Given the description of an element on the screen output the (x, y) to click on. 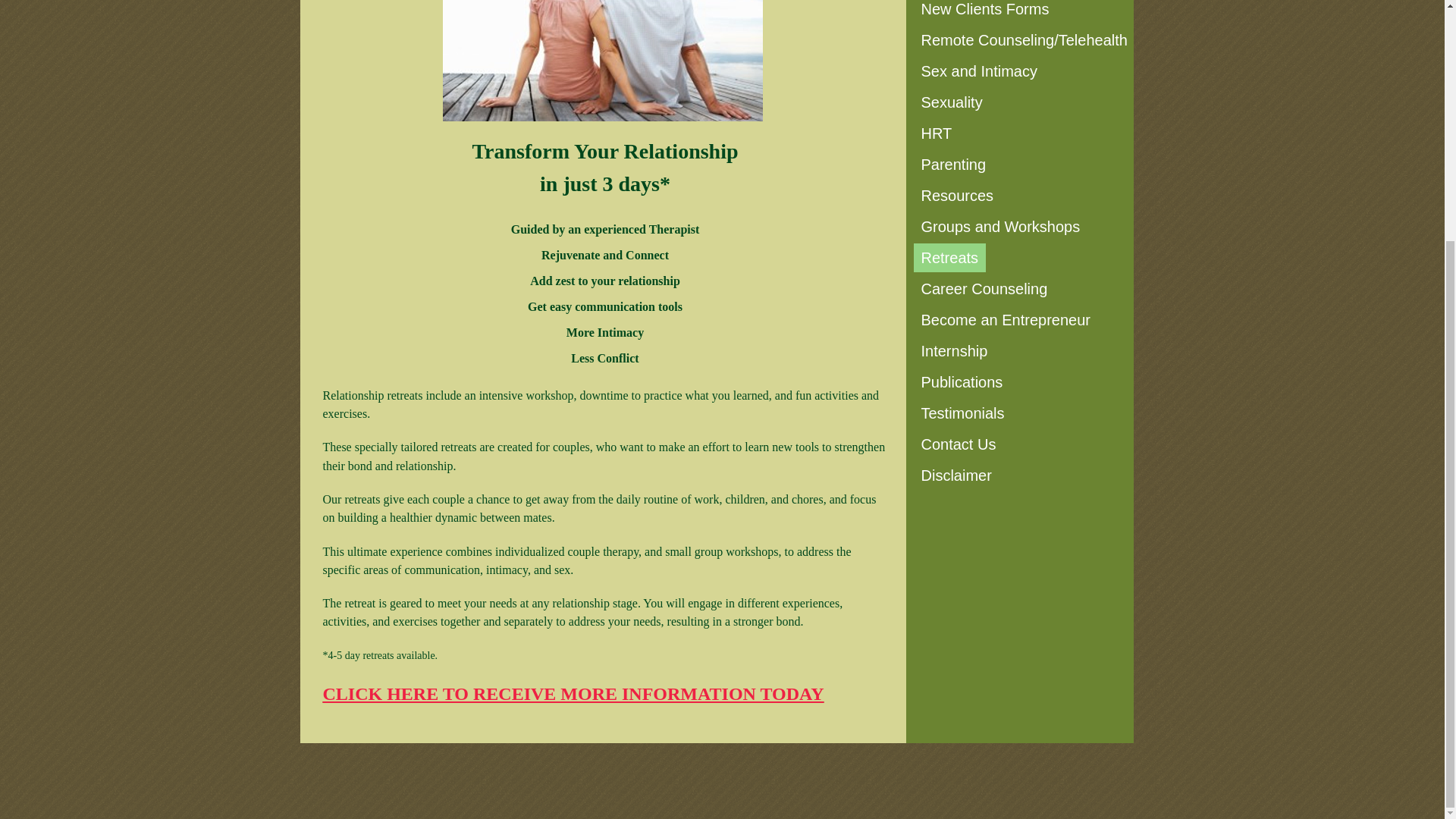
Internship (953, 350)
HRT (935, 133)
Sexuality (951, 102)
CLICK HERE TO RECEIVE MORE INFORMATION TODAY (573, 693)
Publications (961, 381)
Become an Entrepreneur (1004, 319)
Disclaimer (955, 475)
Career Counseling (983, 288)
Retreats (948, 257)
New Clients Forms (984, 11)
Testimonials (961, 412)
Groups and Workshops (999, 226)
Parenting (952, 164)
Sex and Intimacy (977, 70)
Contact Us (957, 443)
